Given the description of an element on the screen output the (x, y) to click on. 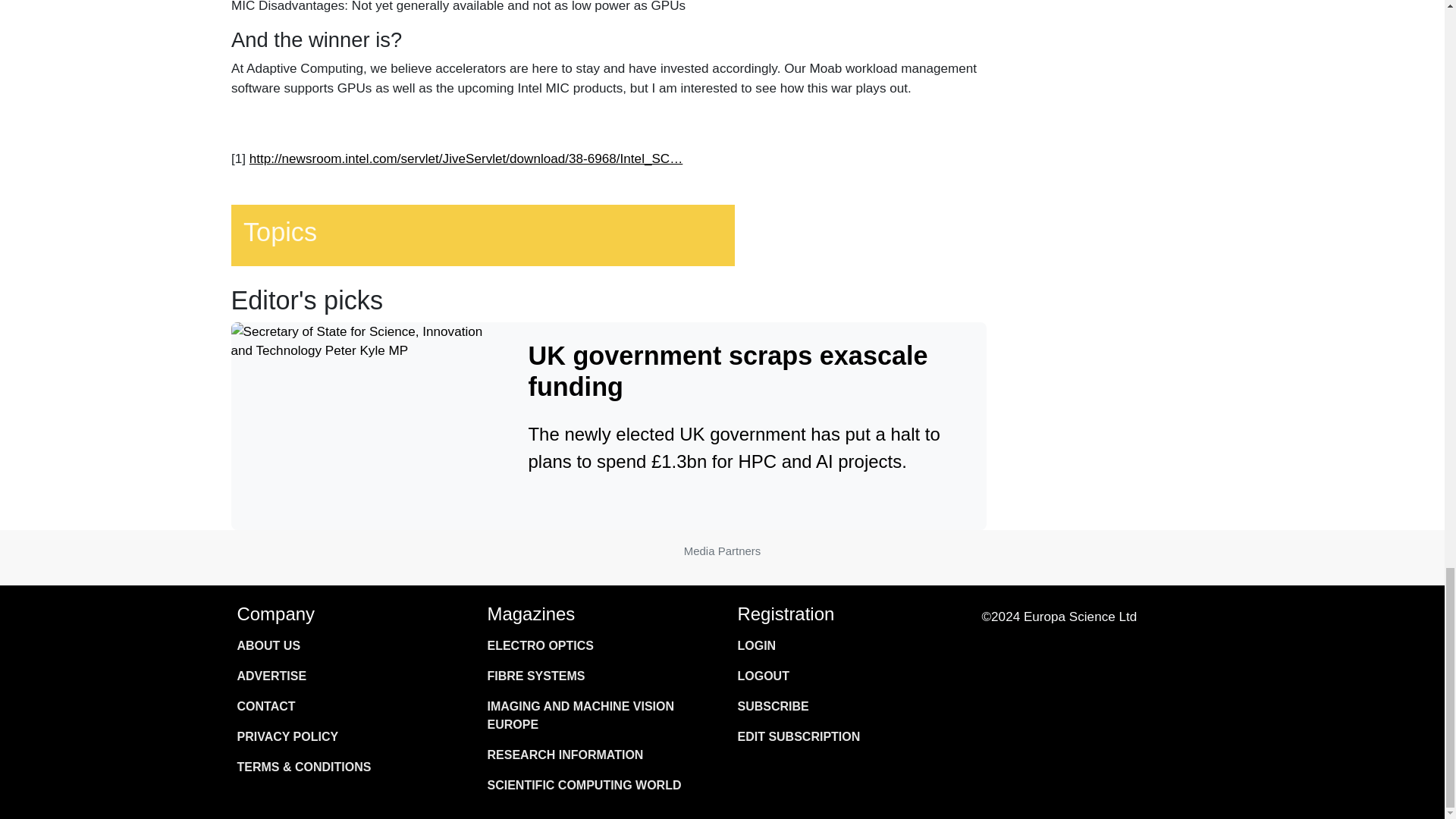
PRIVACY POLICY (346, 736)
ADVERTISE (346, 675)
ABOUT US (346, 645)
CONTACT (346, 706)
